Given the description of an element on the screen output the (x, y) to click on. 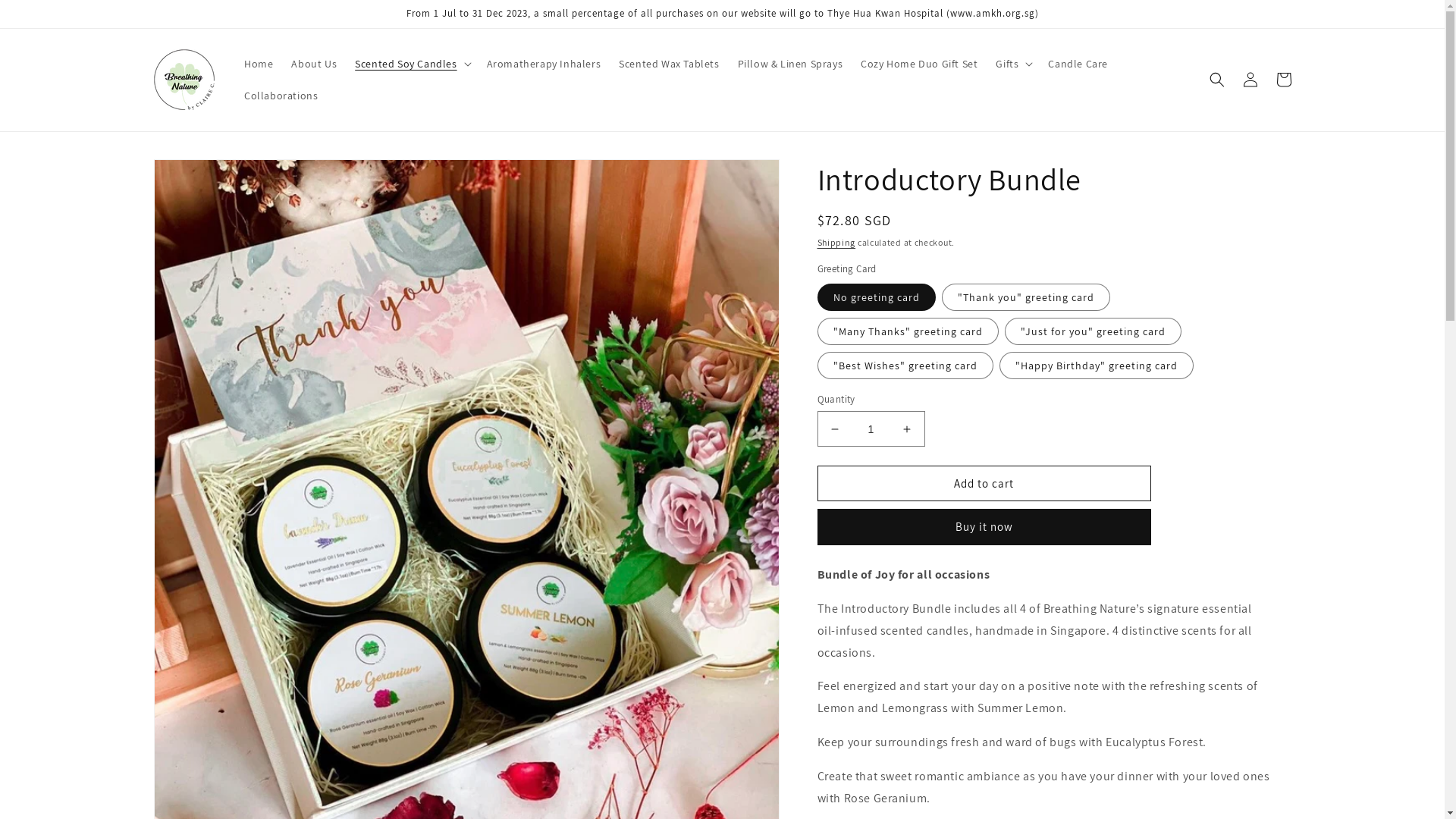
Collaborations Element type: text (280, 95)
Cozy Home Duo Gift Set Element type: text (918, 63)
Log in Element type: text (1249, 79)
Add to cart Element type: text (984, 483)
Scented Wax Tablets Element type: text (668, 63)
Aromatherapy Inhalers Element type: text (543, 63)
Shipping Element type: text (836, 241)
Skip to product information Element type: text (199, 176)
Increase quantity for Introductory Bundle Element type: text (907, 428)
Decrease quantity for Introductory Bundle Element type: text (834, 428)
Pillow & Linen Sprays Element type: text (790, 63)
Candle Care Element type: text (1077, 63)
About Us Element type: text (313, 63)
Home Element type: text (258, 63)
Cart Element type: text (1282, 79)
Buy it now Element type: text (984, 526)
